Given the description of an element on the screen output the (x, y) to click on. 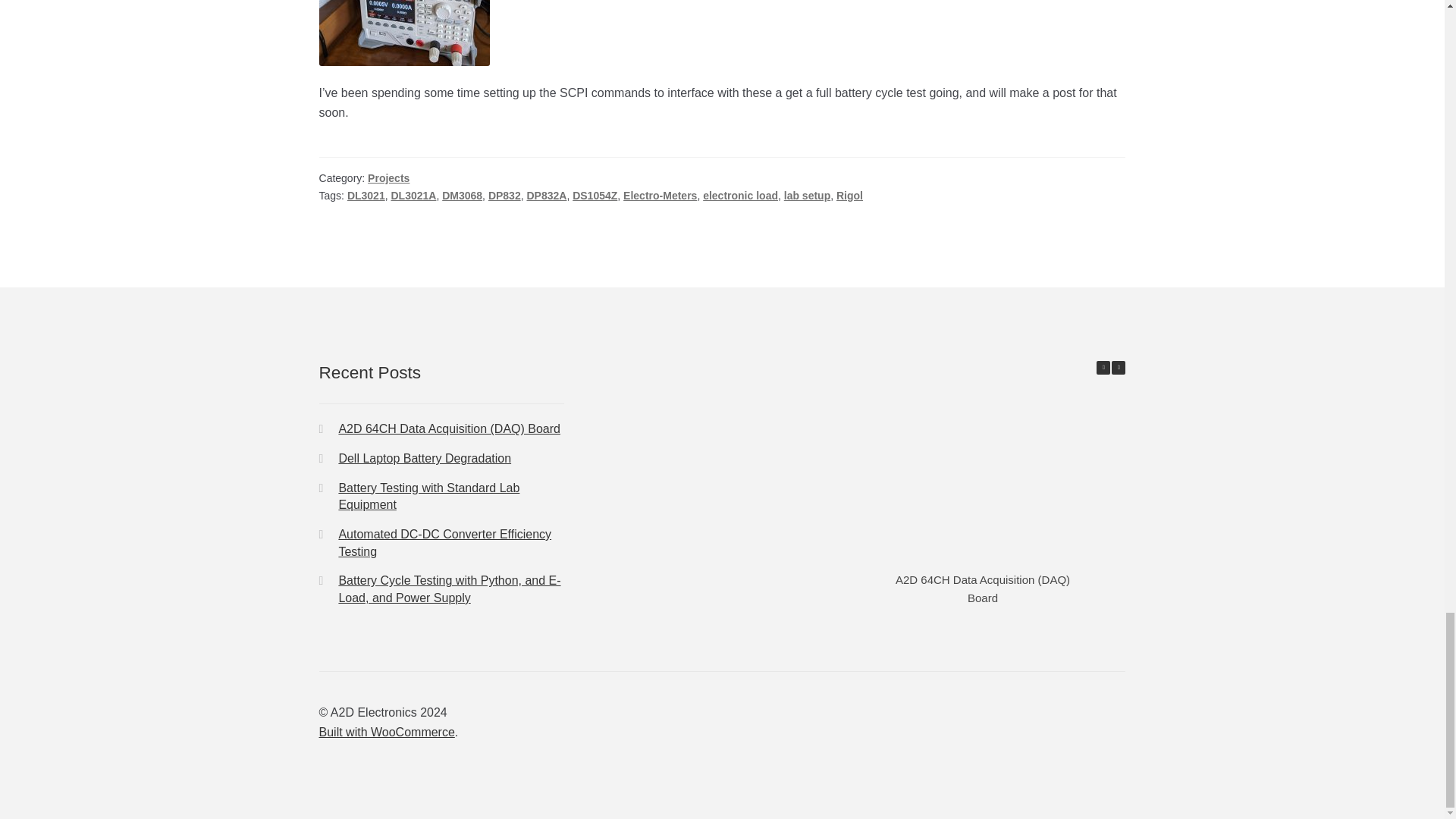
WooCommerce - The Best eCommerce Platform for WordPress (386, 731)
Next (1118, 367)
Previous (1102, 367)
